Given the description of an element on the screen output the (x, y) to click on. 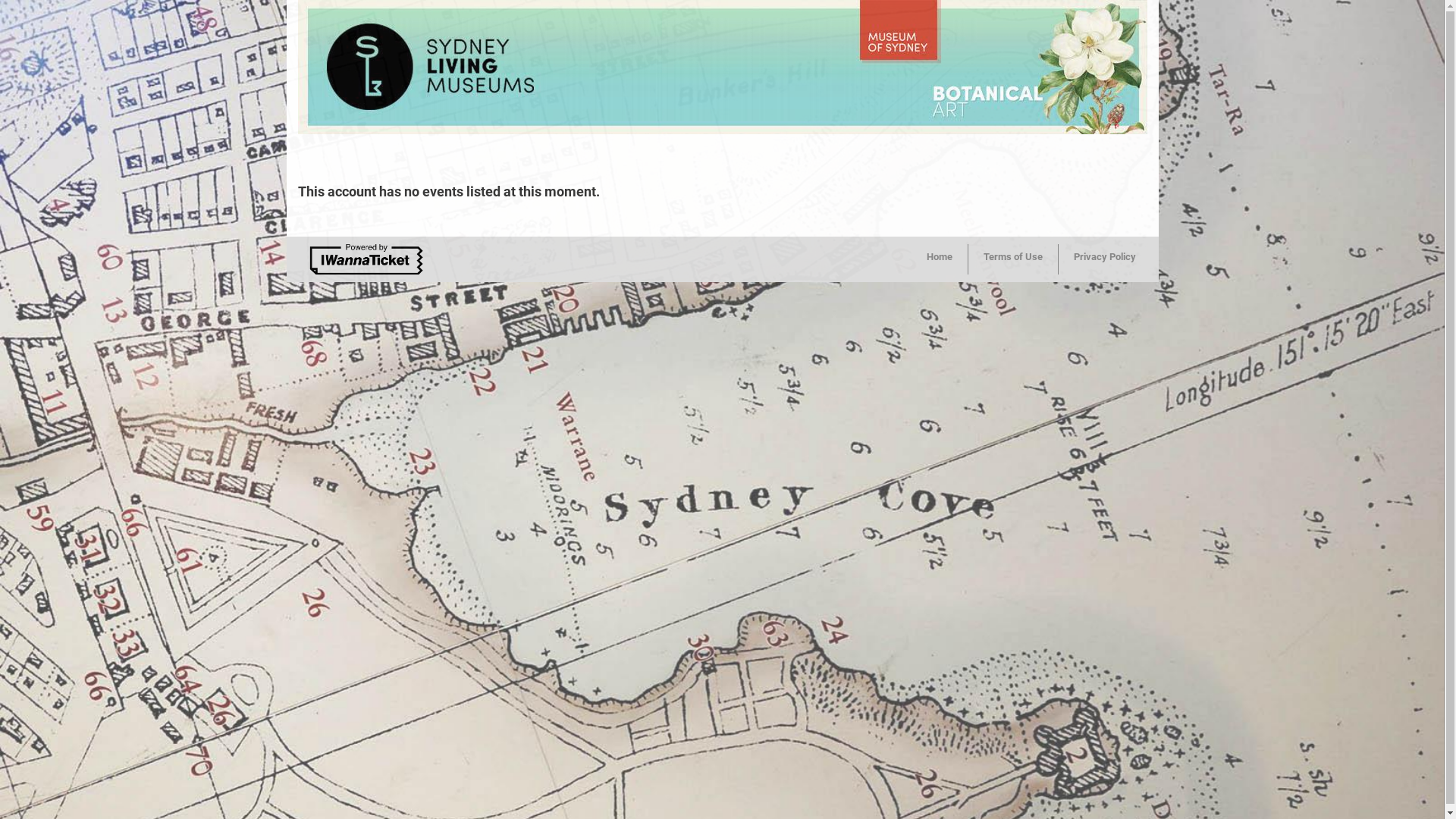
Home Element type: text (939, 259)
Privacy Policy Element type: text (1104, 259)
Terms of Use Element type: text (1012, 259)
